Given the description of an element on the screen output the (x, y) to click on. 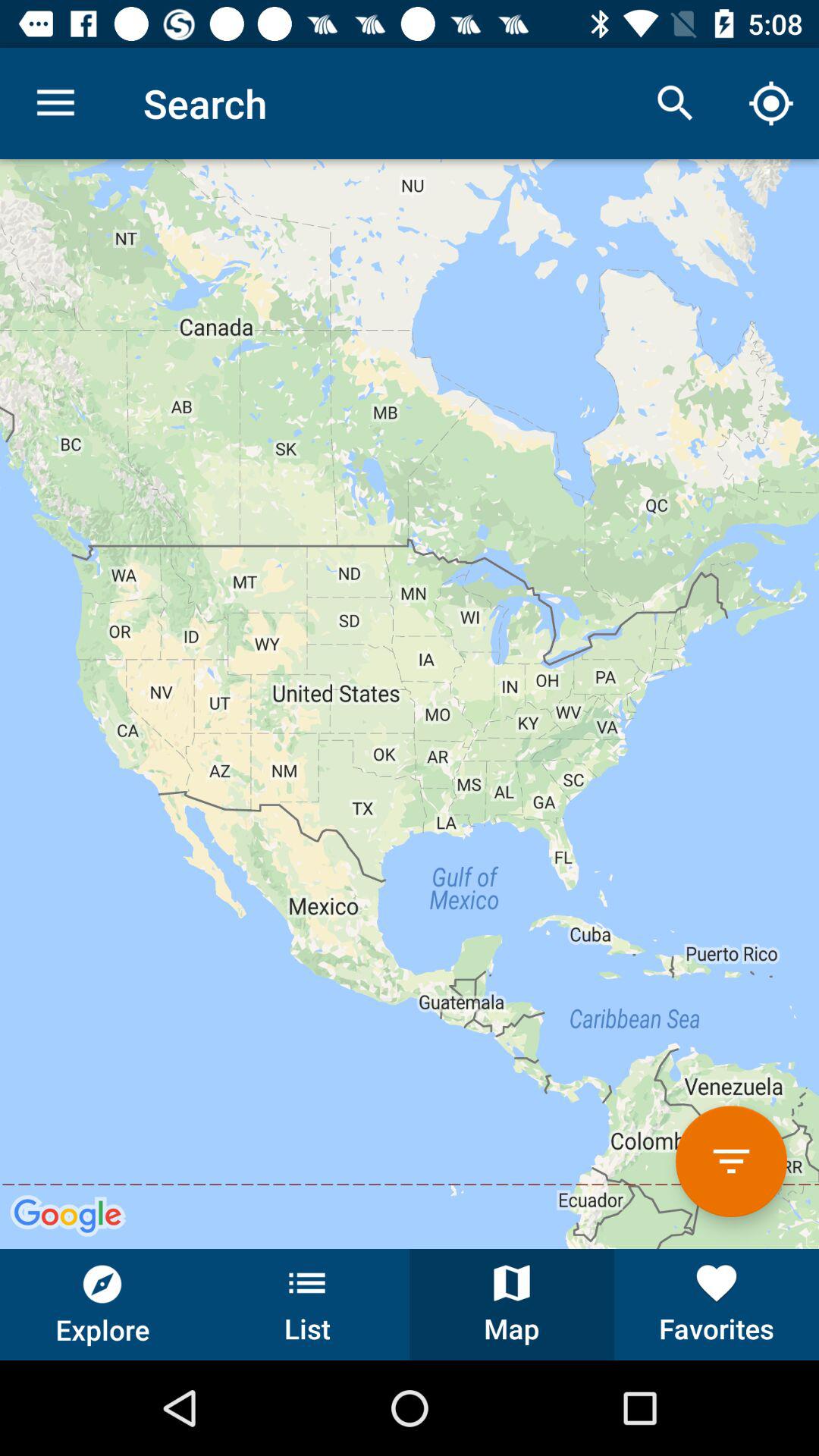
select the button above favorites (731, 1161)
